Given the description of an element on the screen output the (x, y) to click on. 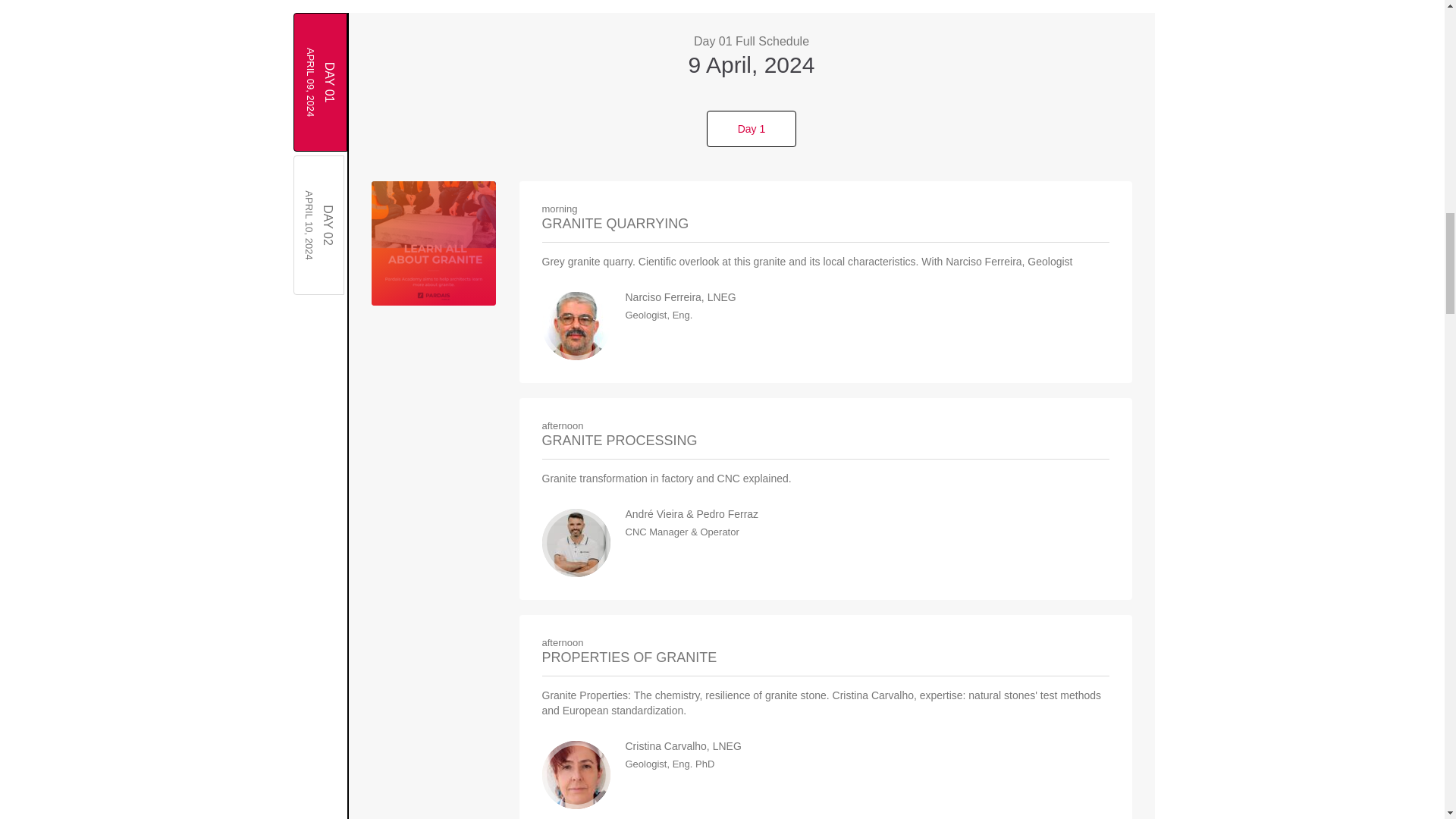
Day 1 (361, 180)
